Given the description of an element on the screen output the (x, y) to click on. 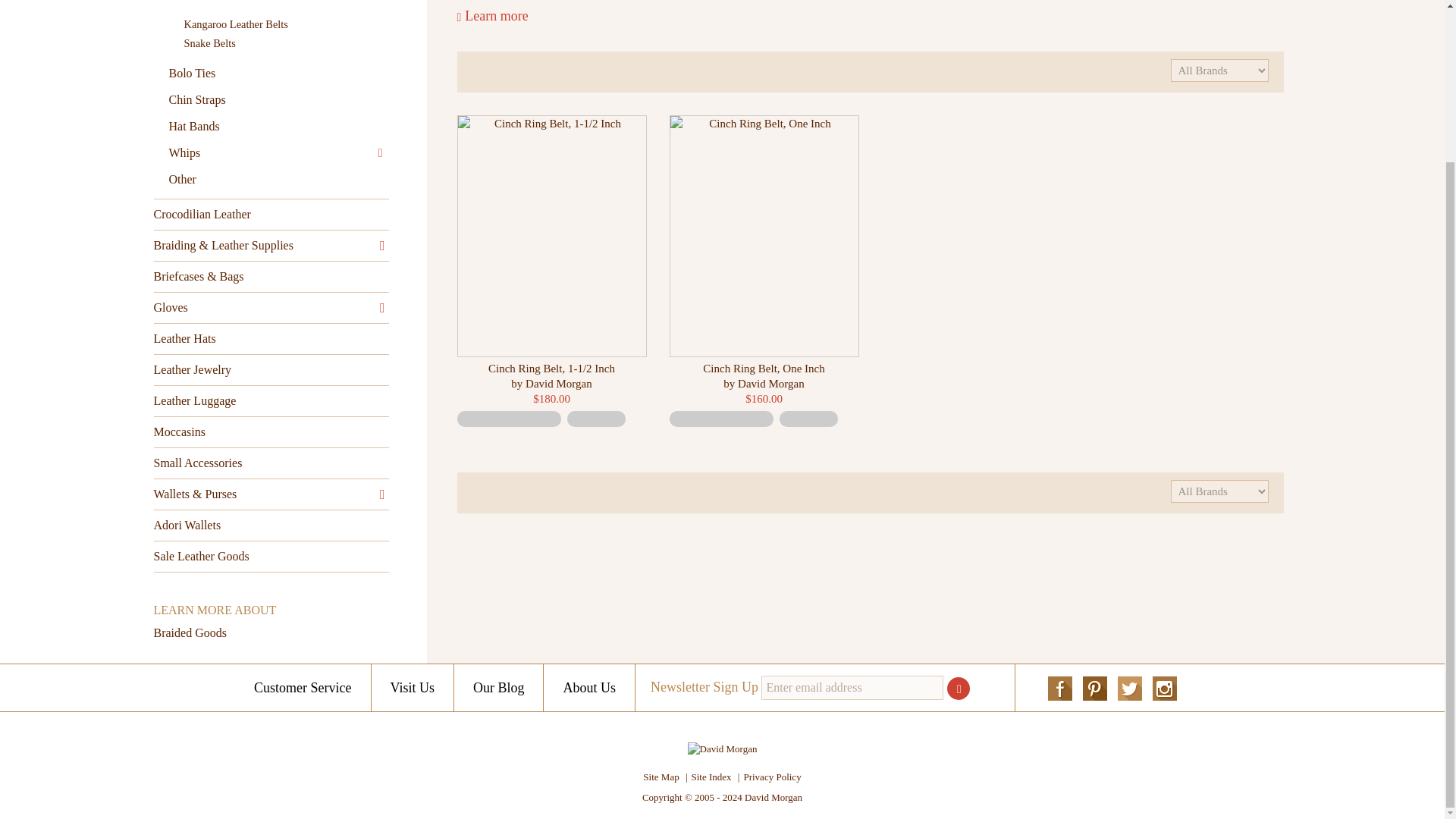
Follow us on Facebook (1059, 688)
Follow us on Pinterest (1094, 688)
Follow us on Twitter (1129, 688)
Follow us on Instagram (1164, 688)
